Given the description of an element on the screen output the (x, y) to click on. 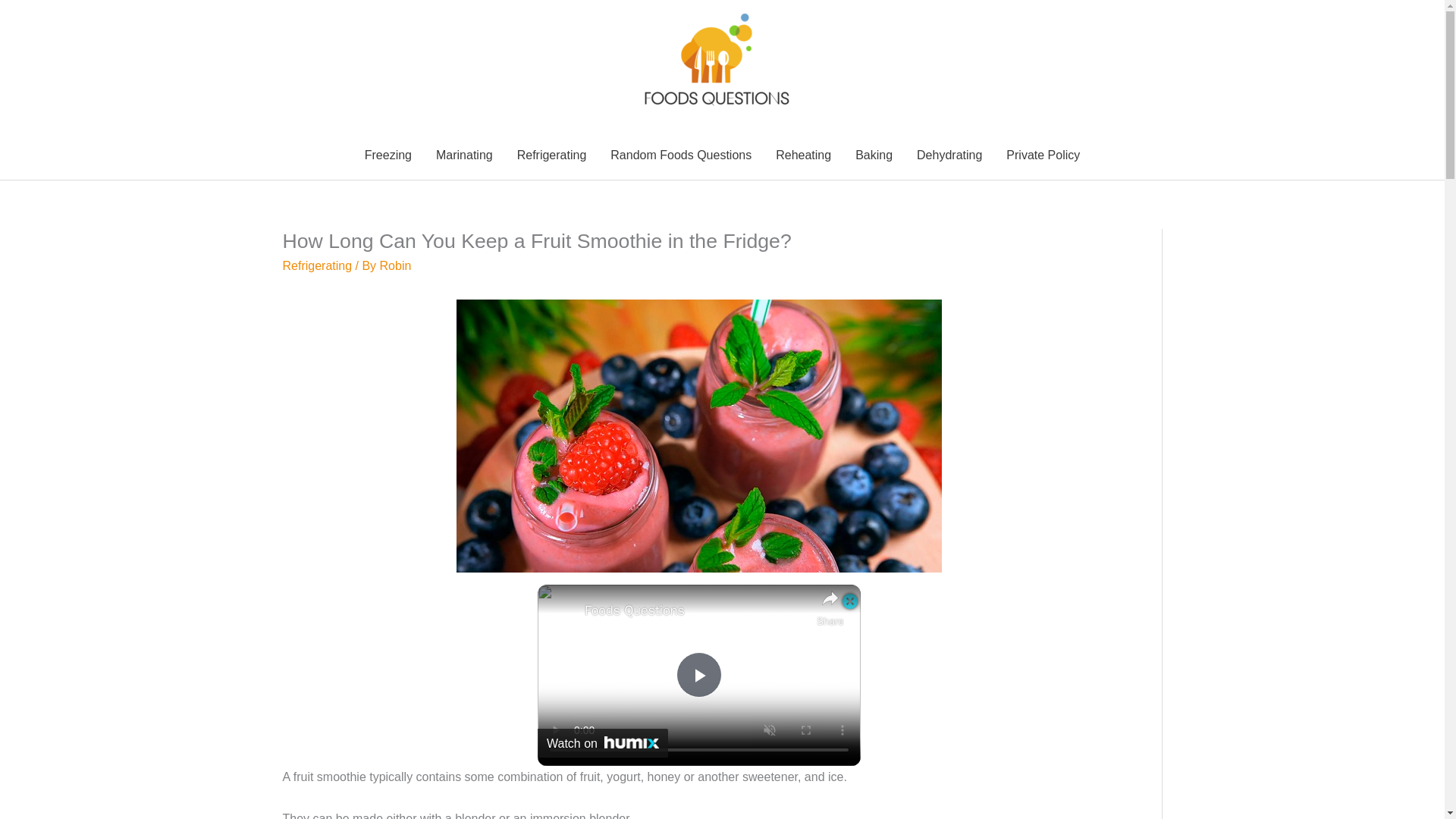
Random Foods Questions (680, 155)
Robin (396, 265)
View all posts by Robin (396, 265)
Marinating (464, 155)
Baking (873, 155)
Play Video (699, 674)
Play Video (699, 674)
Watch on (602, 742)
Refrigerating (317, 265)
Private Policy (1043, 155)
